Given the description of an element on the screen output the (x, y) to click on. 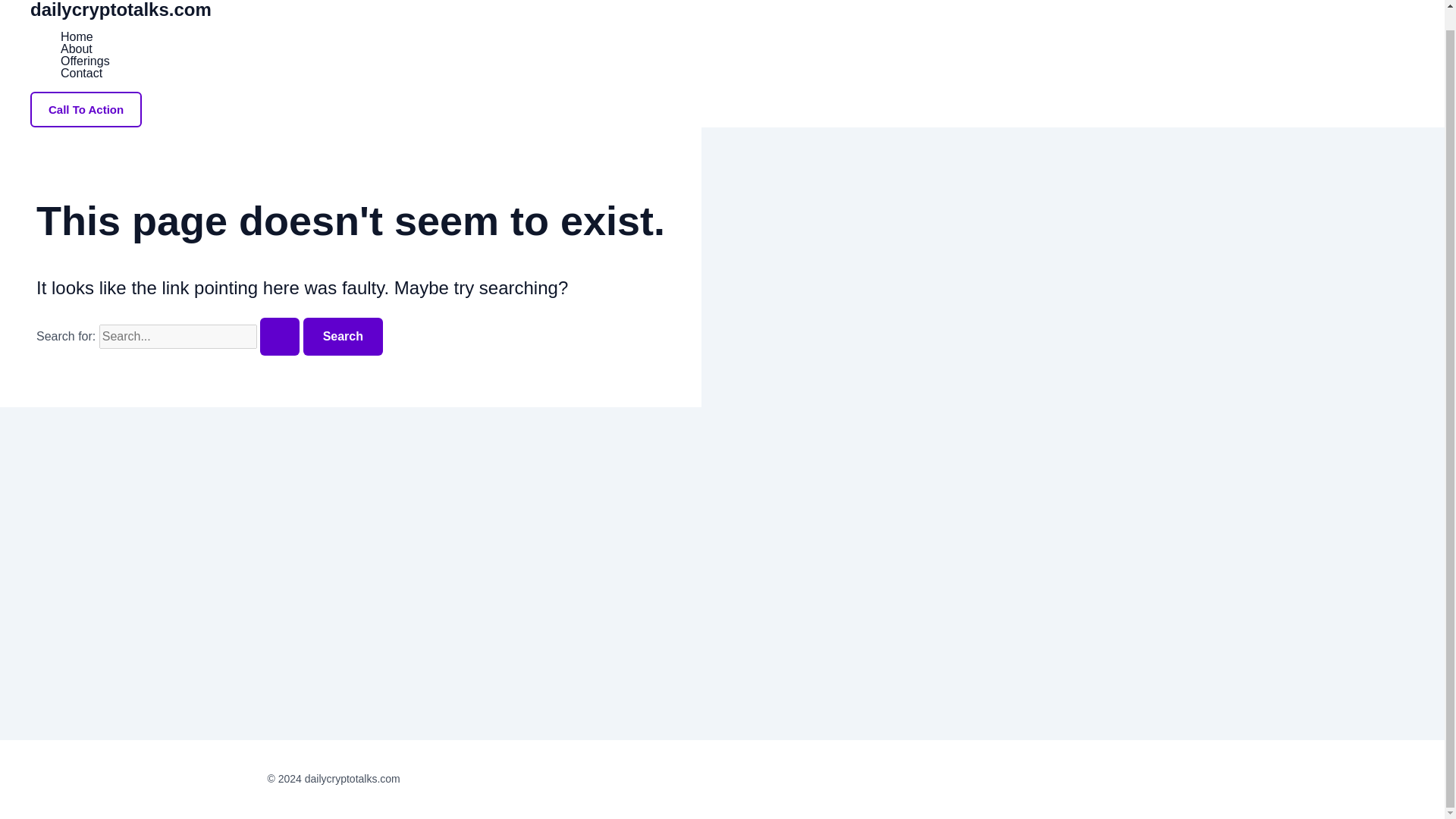
About (85, 49)
Home (85, 37)
Call To Action (85, 109)
Search (342, 336)
Search (342, 336)
Offerings (85, 61)
Search (342, 336)
Contact (85, 73)
dailycryptotalks.com (120, 9)
